Given the description of an element on the screen output the (x, y) to click on. 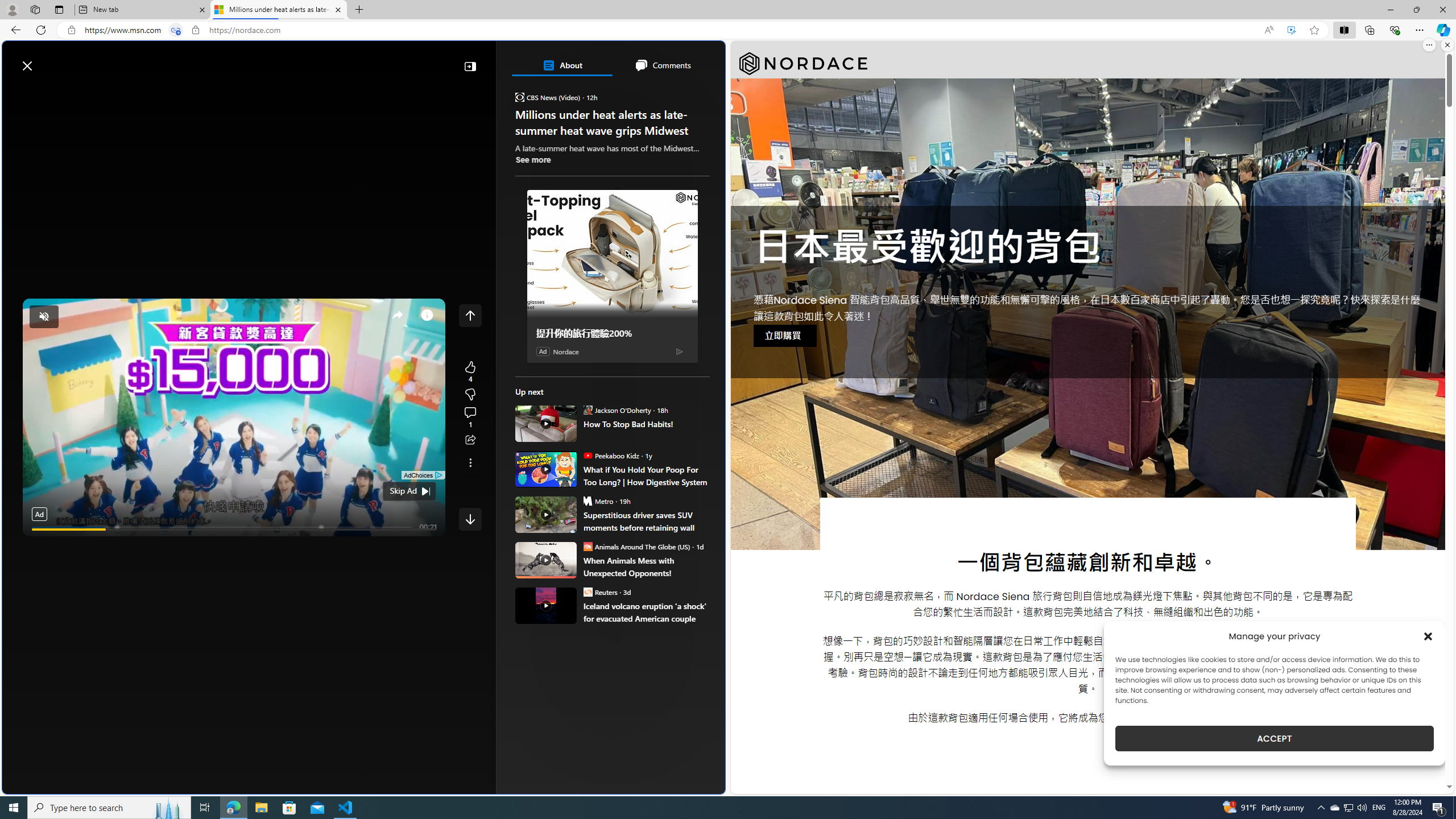
Personalize (679, 92)
How To Stop Bad Habits! (545, 423)
Peekaboo Kidz Peekaboo Kidz (610, 455)
More options. (1428, 45)
